Given the description of an element on the screen output the (x, y) to click on. 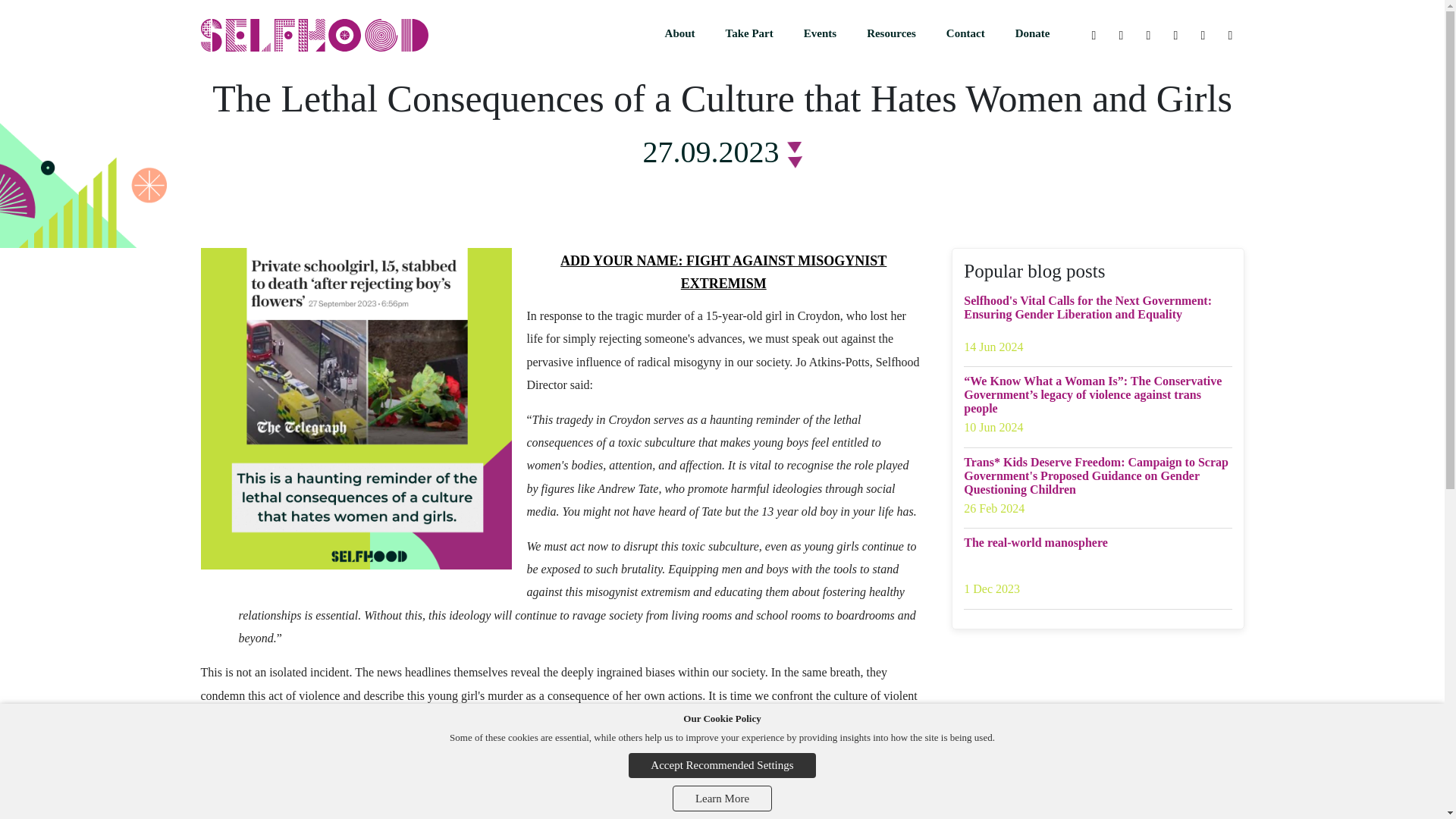
Events (820, 35)
Contact (965, 35)
About (679, 35)
Resources (891, 35)
ADD YOUR NAME: FIGHT AGAINST MISOGYNIST EXTREMISM (723, 272)
Take Part (749, 35)
Donate (1032, 35)
